Given the description of an element on the screen output the (x, y) to click on. 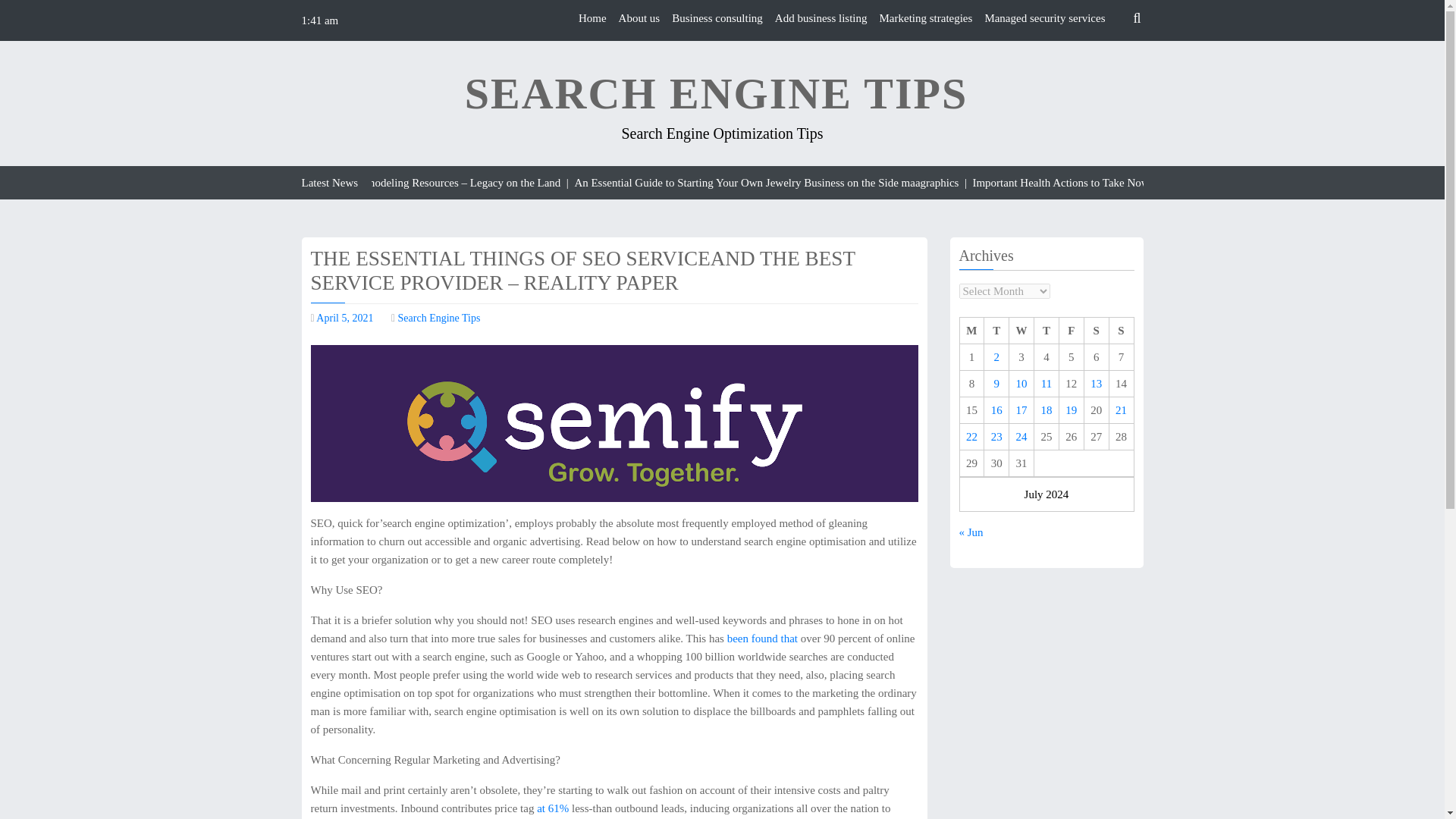
Sunday (1121, 330)
19 (1071, 410)
Add business listing (820, 18)
Search Engine Tips (438, 317)
Marketing strategies (925, 18)
Monday (971, 330)
18 (1046, 410)
Search (1109, 54)
24 (1021, 436)
been found that (763, 638)
17 (1021, 410)
Friday (1070, 330)
Managed security services (1044, 18)
April 5, 2021 (343, 317)
22 (971, 436)
